Given the description of an element on the screen output the (x, y) to click on. 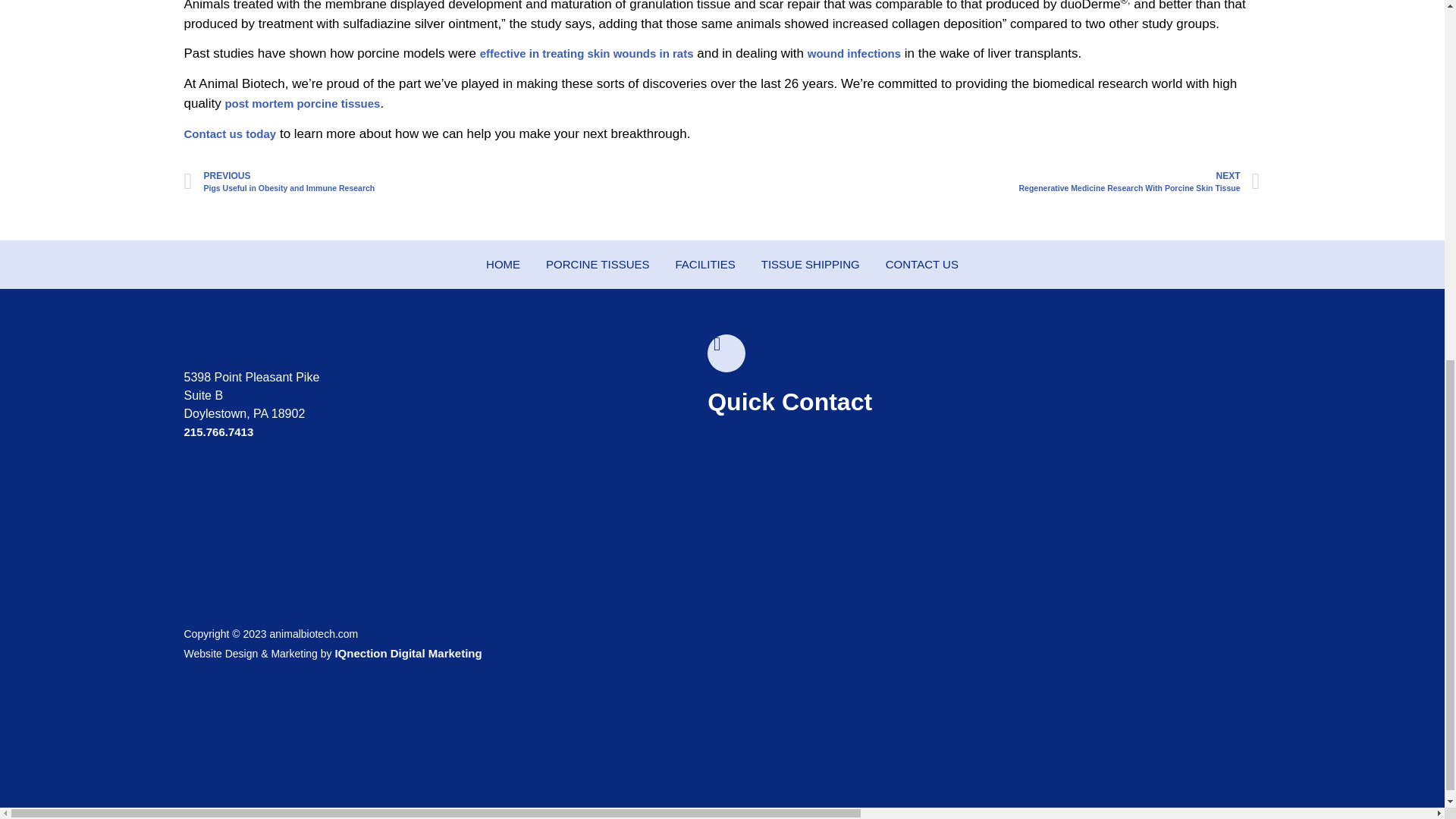
FACILITIES (705, 264)
post mortem porcine tissues (302, 103)
HOME (452, 181)
effective in treating skin wounds in rats (502, 264)
wound infections (991, 181)
Contact us today (587, 52)
PORCINE TISSUES (854, 52)
